Given the description of an element on the screen output the (x, y) to click on. 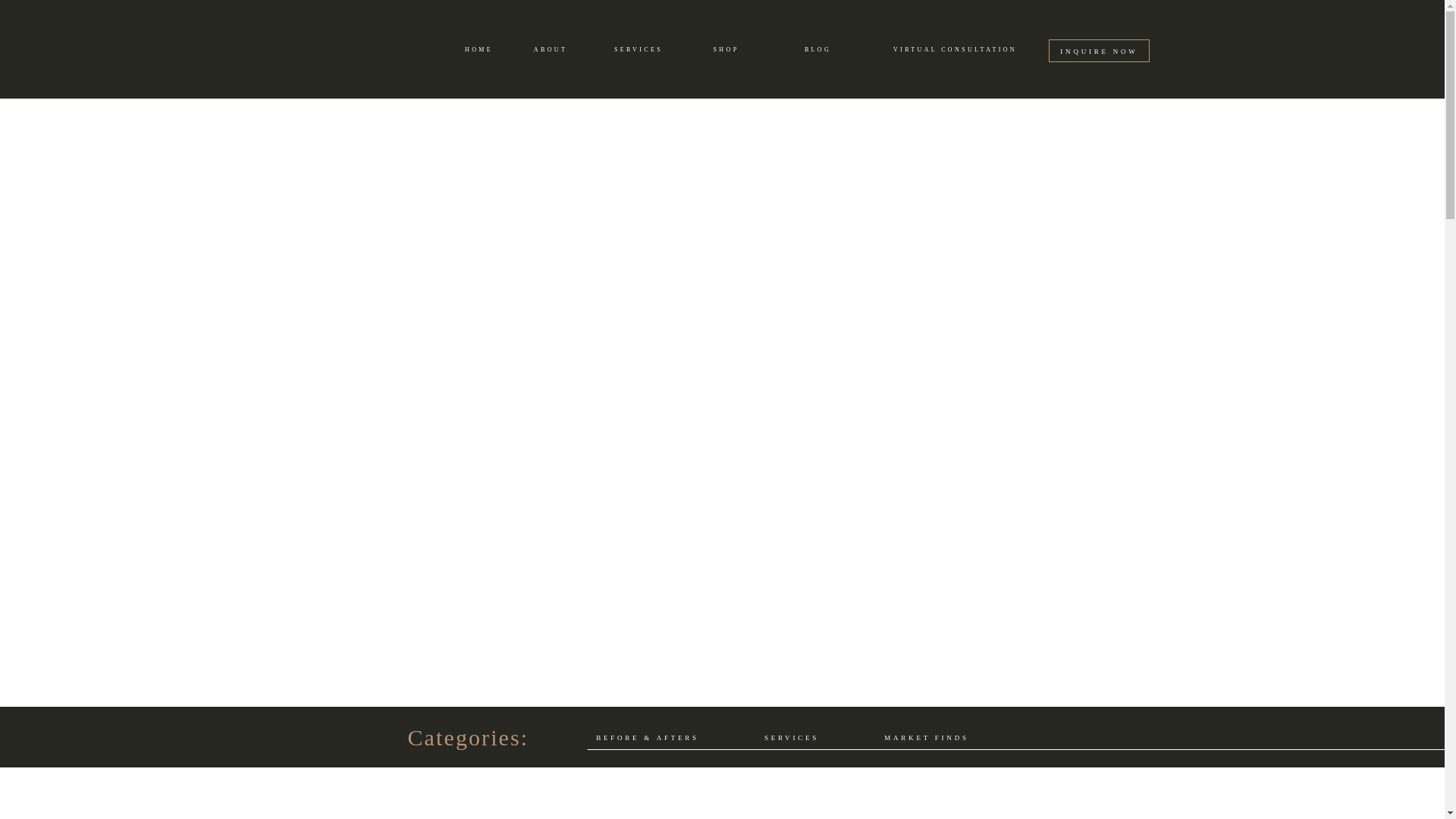
SERVICES (637, 49)
HOME (479, 49)
ABOUT (550, 49)
VIRTUAL CONSULTATION (954, 49)
INQUIRE NOW (1099, 50)
BLOG (817, 49)
SHOP (726, 49)
